Given the description of an element on the screen output the (x, y) to click on. 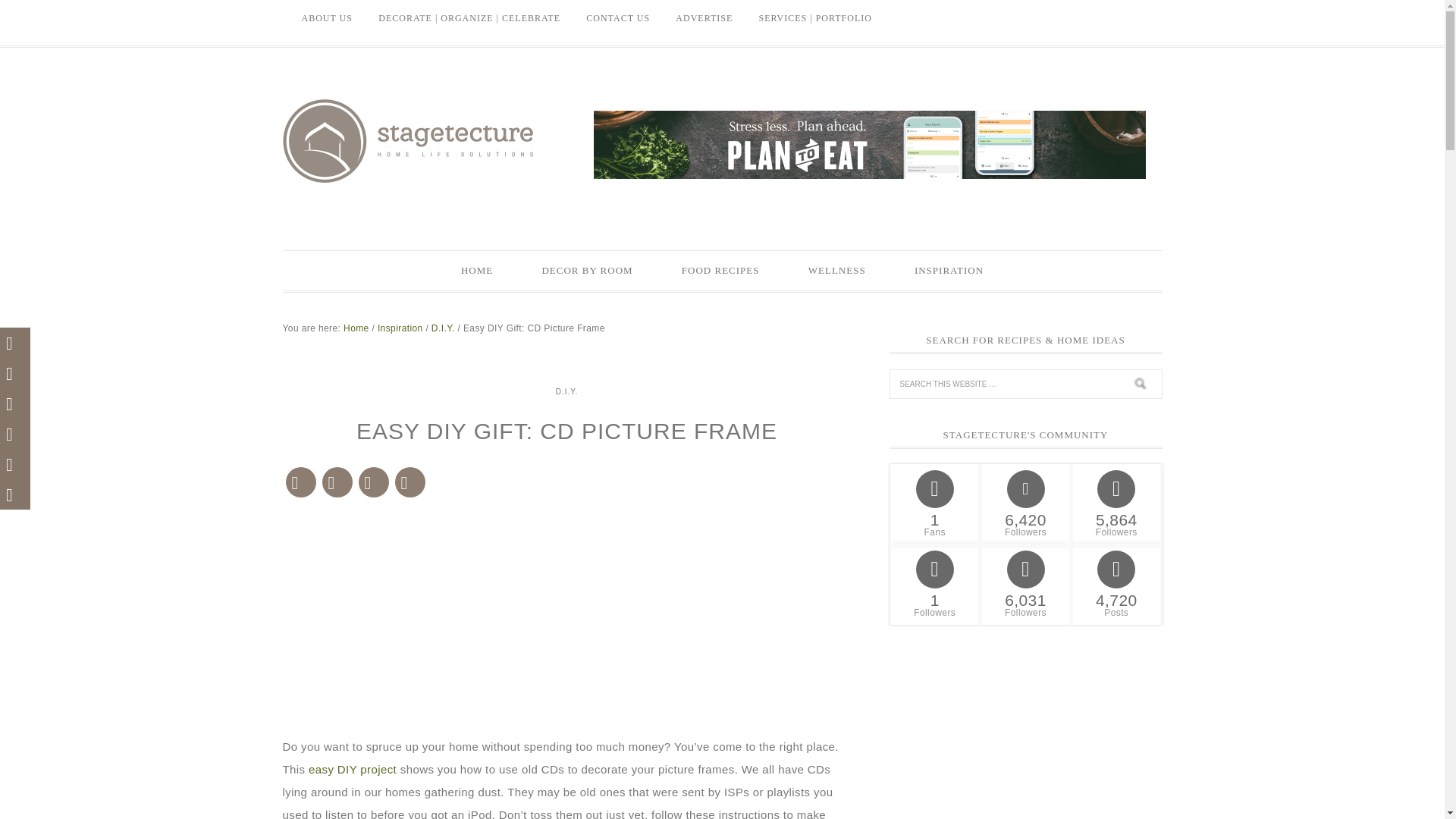
CONTACT US (618, 18)
ABOUT US (325, 18)
ADVERTISE (703, 18)
INSPIRATION (948, 270)
Simple Meal Planning - Plan to Eat (868, 171)
DECOR BY ROOM (586, 270)
WELLNESS (837, 270)
HOME (476, 270)
Pinterest (300, 482)
Facebook (336, 482)
Advertisement (566, 621)
More Options (409, 482)
FOOD RECIPES (721, 270)
